Given the description of an element on the screen output the (x, y) to click on. 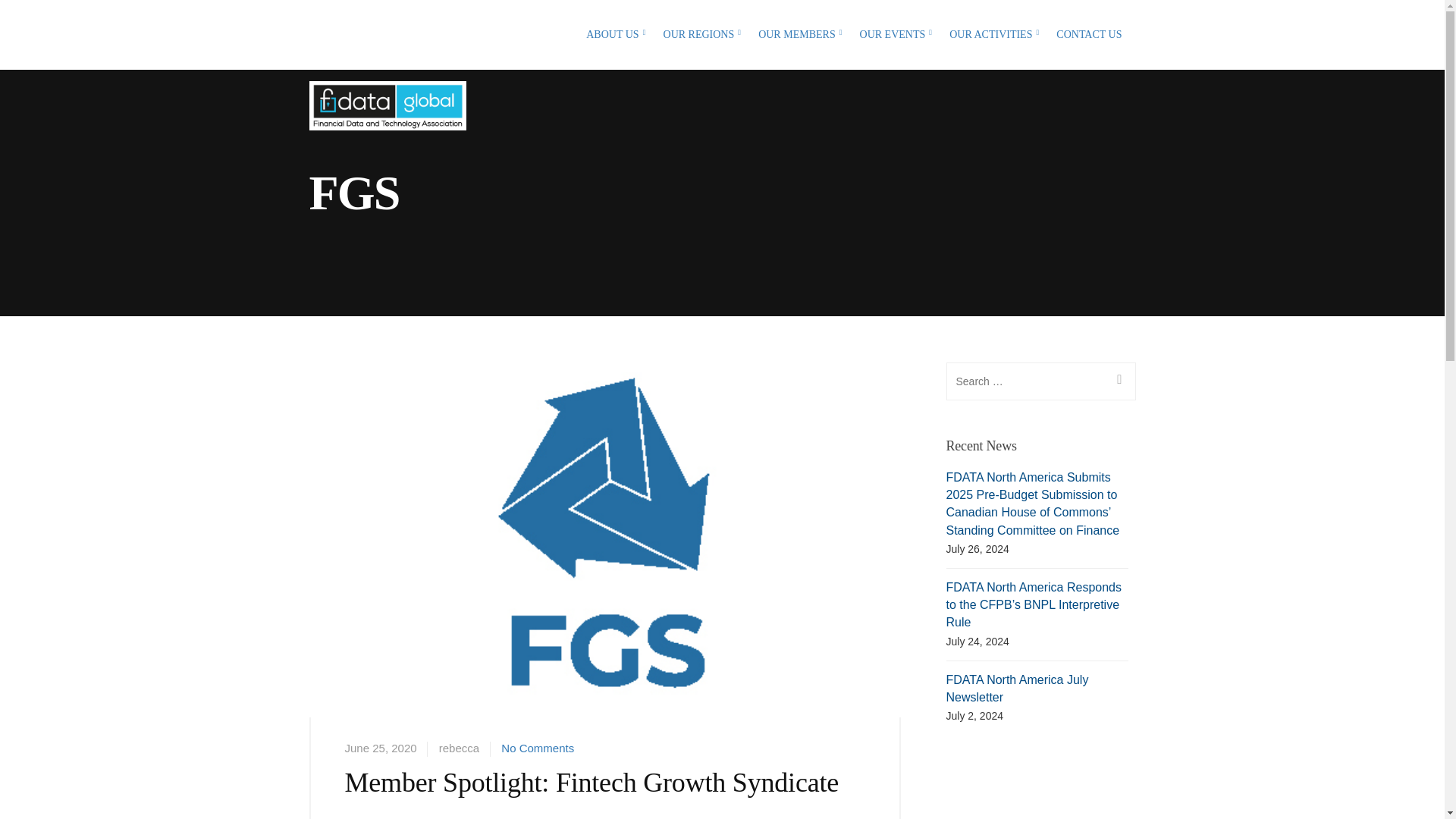
CONTACT US (1089, 34)
Search (1117, 381)
Search (18, 18)
OUR EVENTS (896, 34)
Member Spotlight: Fintech Growth Syndicate (604, 567)
ABOUT US (616, 34)
OUR ACTIVITIES (994, 34)
OUR MEMBERS (800, 34)
OUR REGIONS (702, 34)
Search (1117, 381)
